Given the description of an element on the screen output the (x, y) to click on. 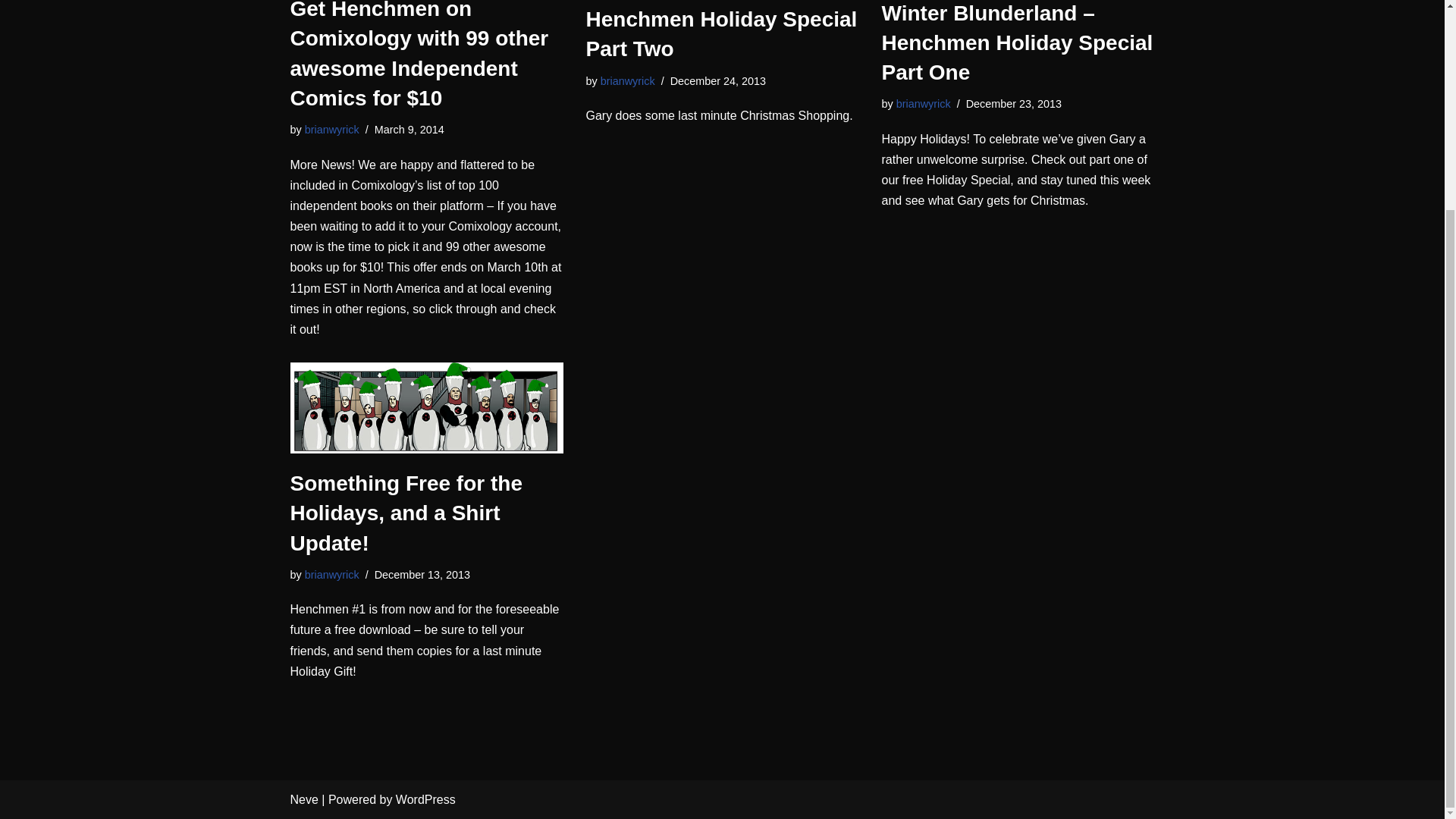
Posts by brianwyrick (331, 574)
brianwyrick (627, 80)
Posts by brianwyrick (627, 80)
Posts by brianwyrick (331, 129)
Posts by brianwyrick (923, 103)
Something Free for the Holidays, and a Shirt Update! (425, 407)
brianwyrick (331, 129)
